Given the description of an element on the screen output the (x, y) to click on. 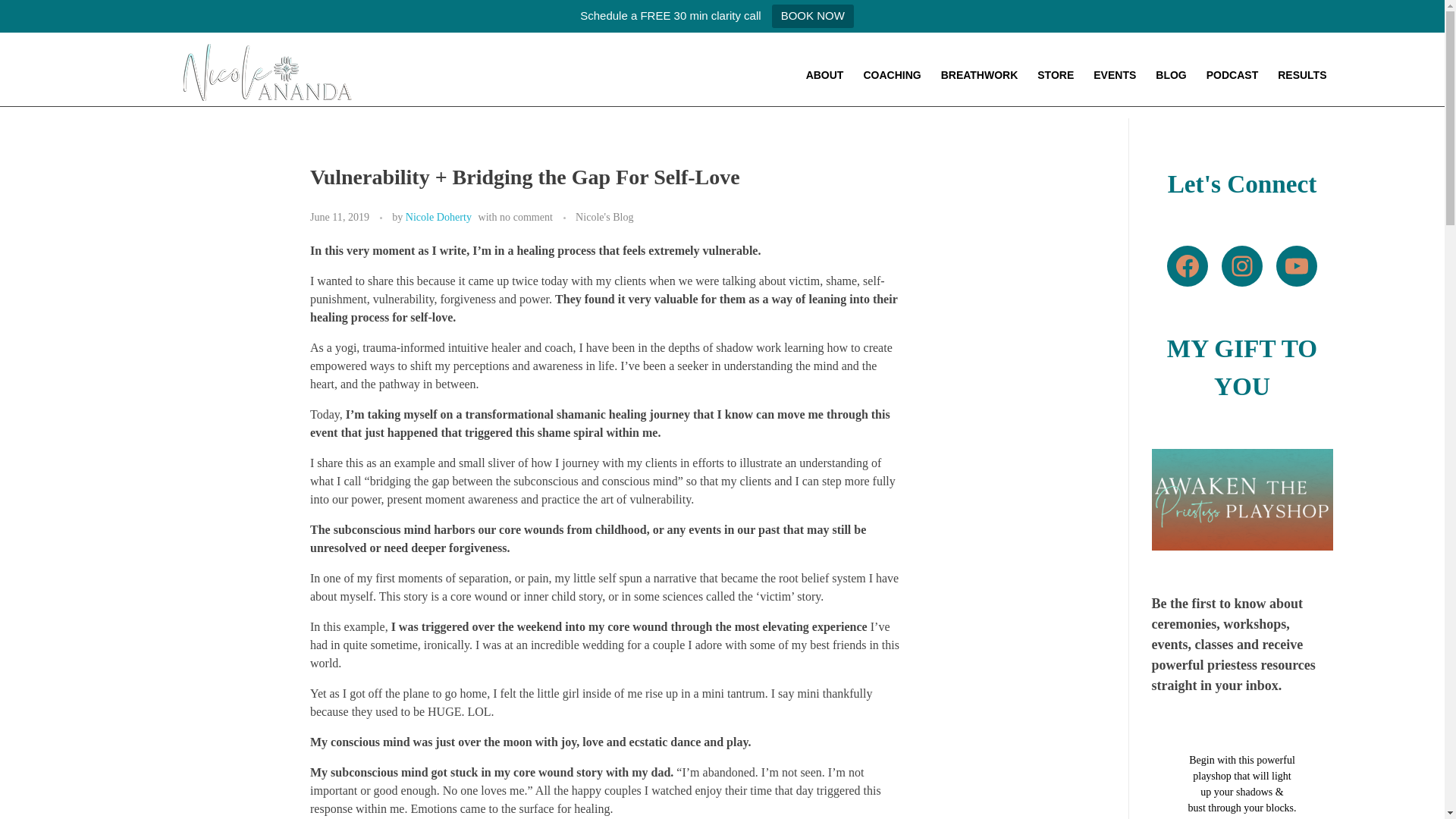
BREATHWORK (979, 75)
Nicole Doherty Ananda (214, 109)
BOOK NOW (812, 15)
Nicole's Blog (604, 217)
EVENTS (1114, 75)
Nicole Doherty Ananda (214, 109)
ABOUT (824, 75)
Nicole Doherty (438, 216)
STORE (1055, 75)
RESULTS (1301, 75)
PODCAST (1232, 75)
View all posts in Nicole's Blog (604, 217)
COACHING (891, 75)
View all posts by Nicole Doherty (438, 216)
BLOG (1170, 75)
